Given the description of an element on the screen output the (x, y) to click on. 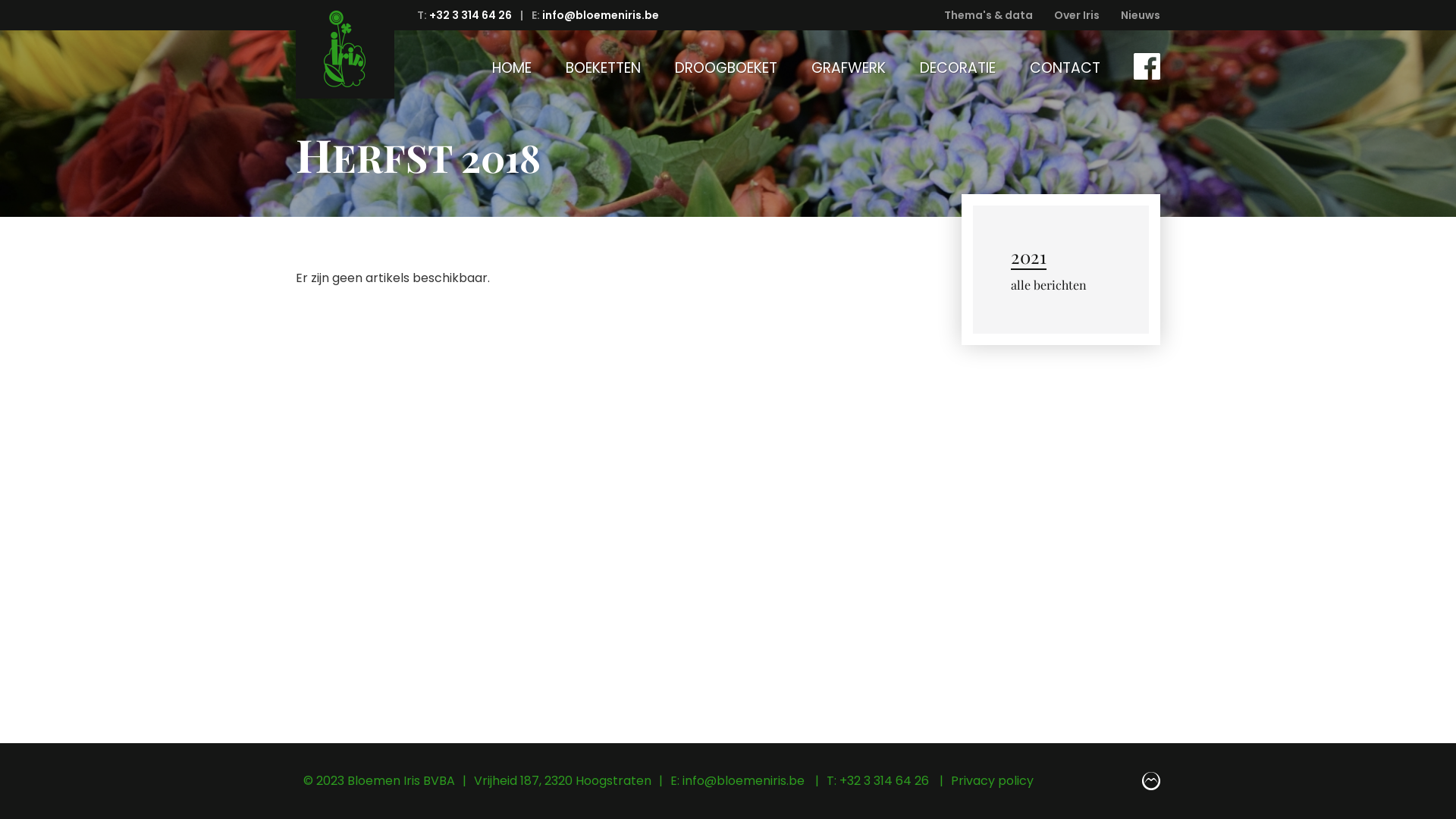
CONTACT Element type: text (1064, 67)
DROOGBOEKET Element type: text (725, 67)
DECORATIE Element type: text (957, 67)
HOME Element type: text (511, 67)
Privacy policy Element type: text (991, 780)
info@bloemeniris.be Element type: text (744, 780)
Nieuws Element type: text (1140, 14)
GRAFWERK Element type: text (848, 67)
alle berichten Element type: text (1047, 284)
Thema's & data Element type: text (988, 14)
info@bloemeniris.be Element type: text (600, 14)
Over Iris Element type: text (1076, 14)
BOEKETTEN Element type: text (602, 67)
